Given the description of an element on the screen output the (x, y) to click on. 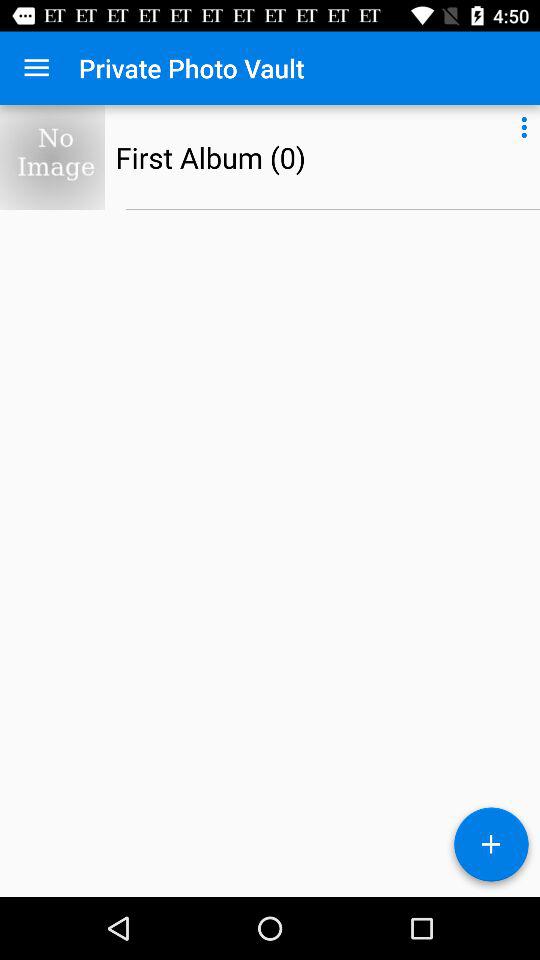
click item to the right of first album (0) (524, 124)
